Given the description of an element on the screen output the (x, y) to click on. 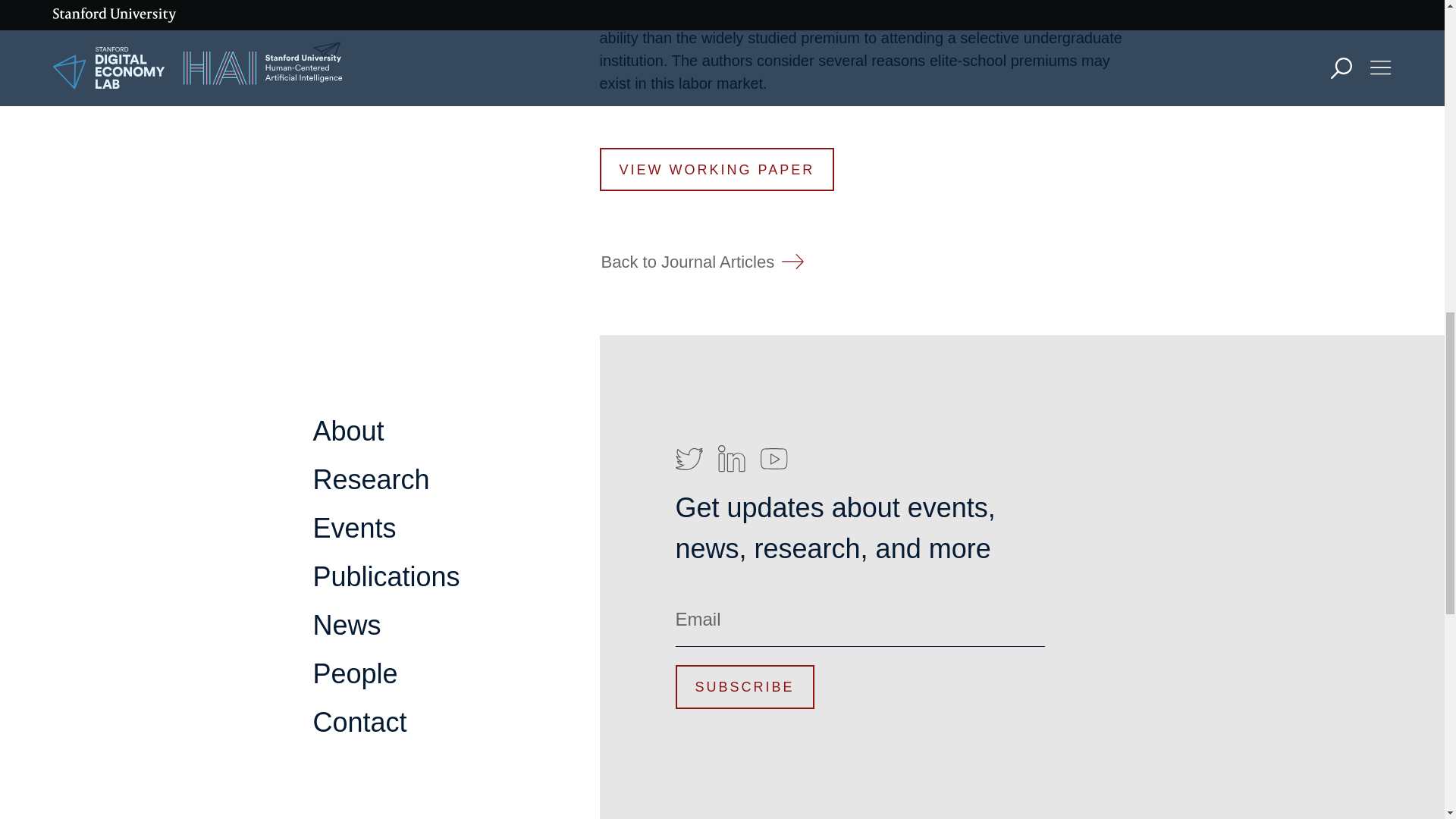
Research (371, 479)
Back to Journal Articles (702, 261)
About (688, 71)
Publications (721, 203)
LinkedIn (712, 389)
LinkedIn (730, 458)
Publications (386, 576)
People (355, 673)
People (694, 290)
Research (708, 114)
Contact (359, 721)
Search (1091, 72)
Twitter (688, 458)
About (348, 430)
Subscribe (744, 686)
